Given the description of an element on the screen output the (x, y) to click on. 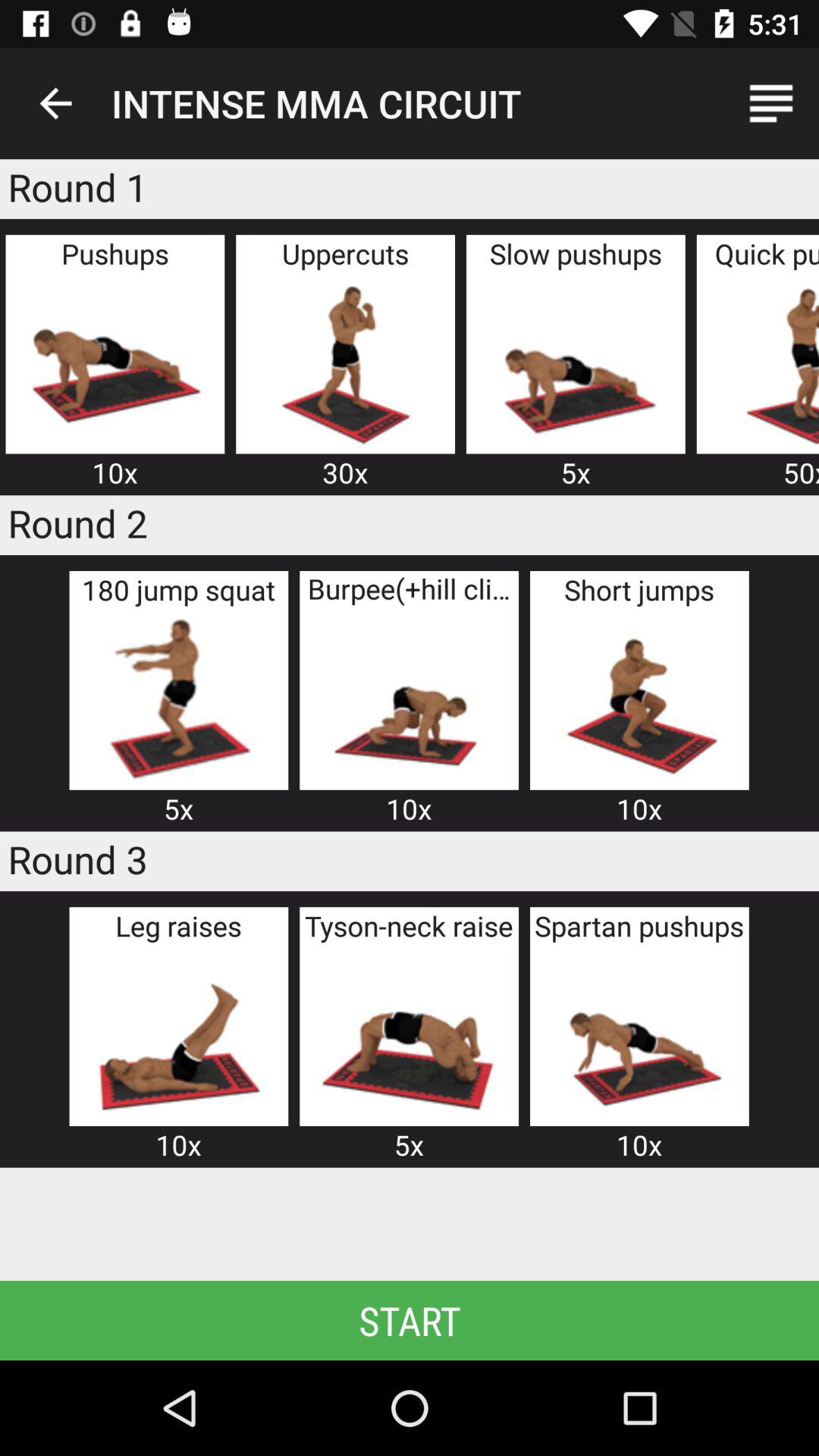
bend down in all fours (408, 698)
